Given the description of an element on the screen output the (x, y) to click on. 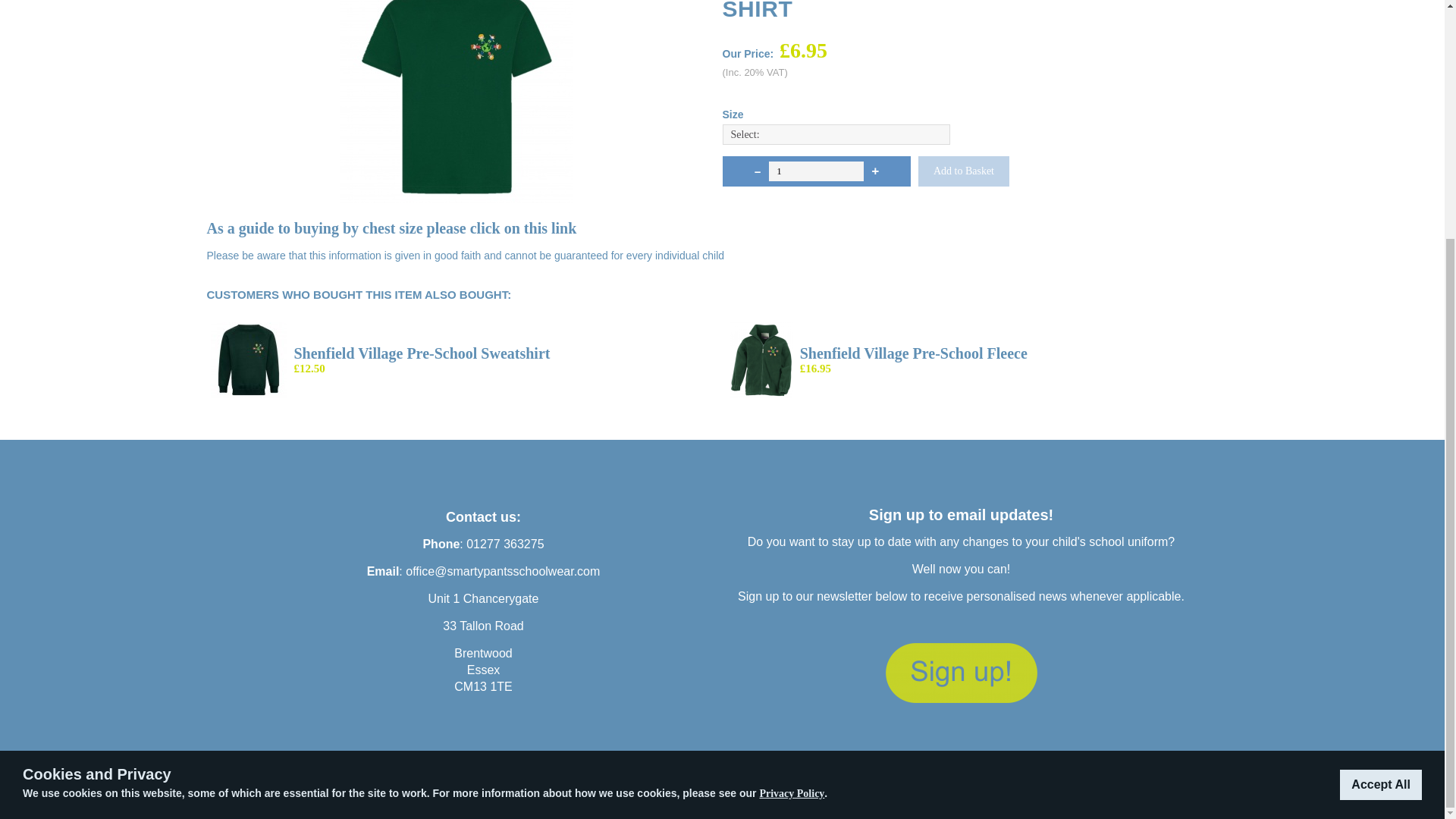
As a guide to buying by chest size please click on this link (391, 228)
Add to Basket (963, 171)
Shenfield Village Pre-School Fleece (913, 352)
1 (815, 170)
Shenfield Village Pre-School Sweatshirt (422, 352)
Privacy Policy (791, 465)
Shenfield Village Pre-School T-shirt (456, 197)
Zoom (456, 101)
